Given the description of an element on the screen output the (x, y) to click on. 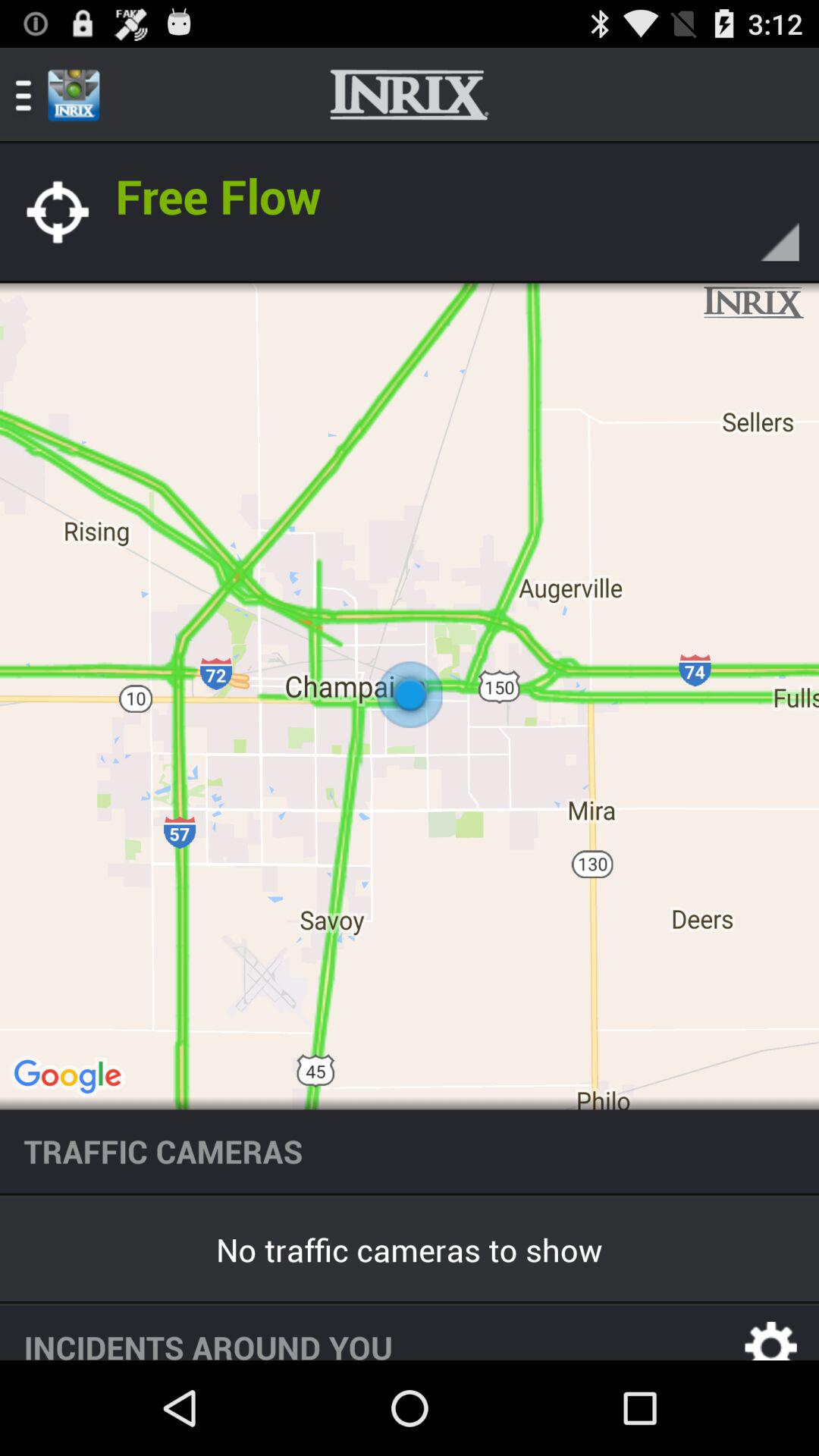
settings (771, 1332)
